Given the description of an element on the screen output the (x, y) to click on. 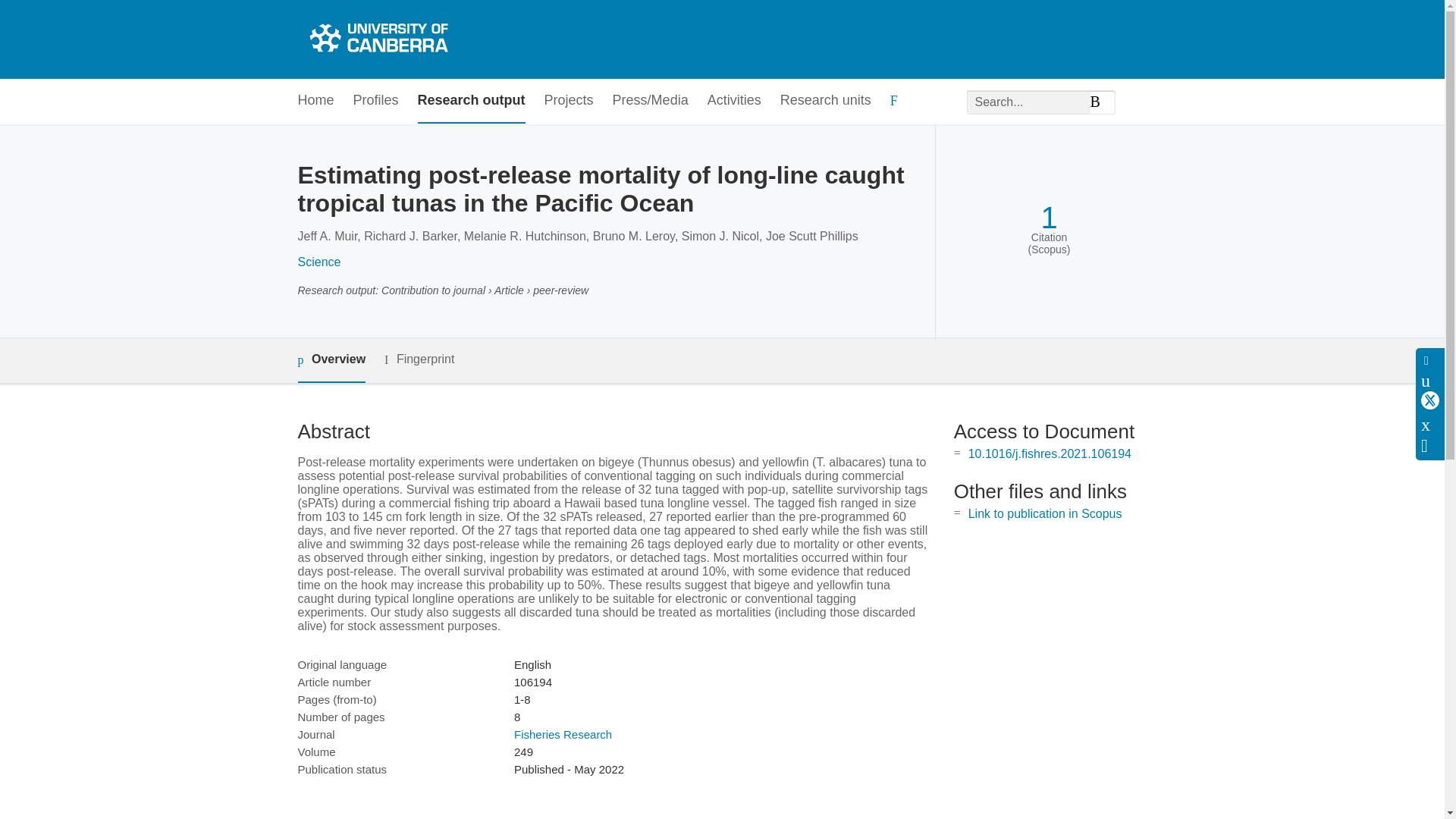
Fingerprint (419, 359)
University of Canberra Research Portal Home (377, 39)
Research units (825, 100)
Projects (569, 100)
Overview (331, 360)
Activities (734, 100)
Link to publication in Scopus (1045, 513)
Research output (471, 100)
Science (318, 261)
